Given the description of an element on the screen output the (x, y) to click on. 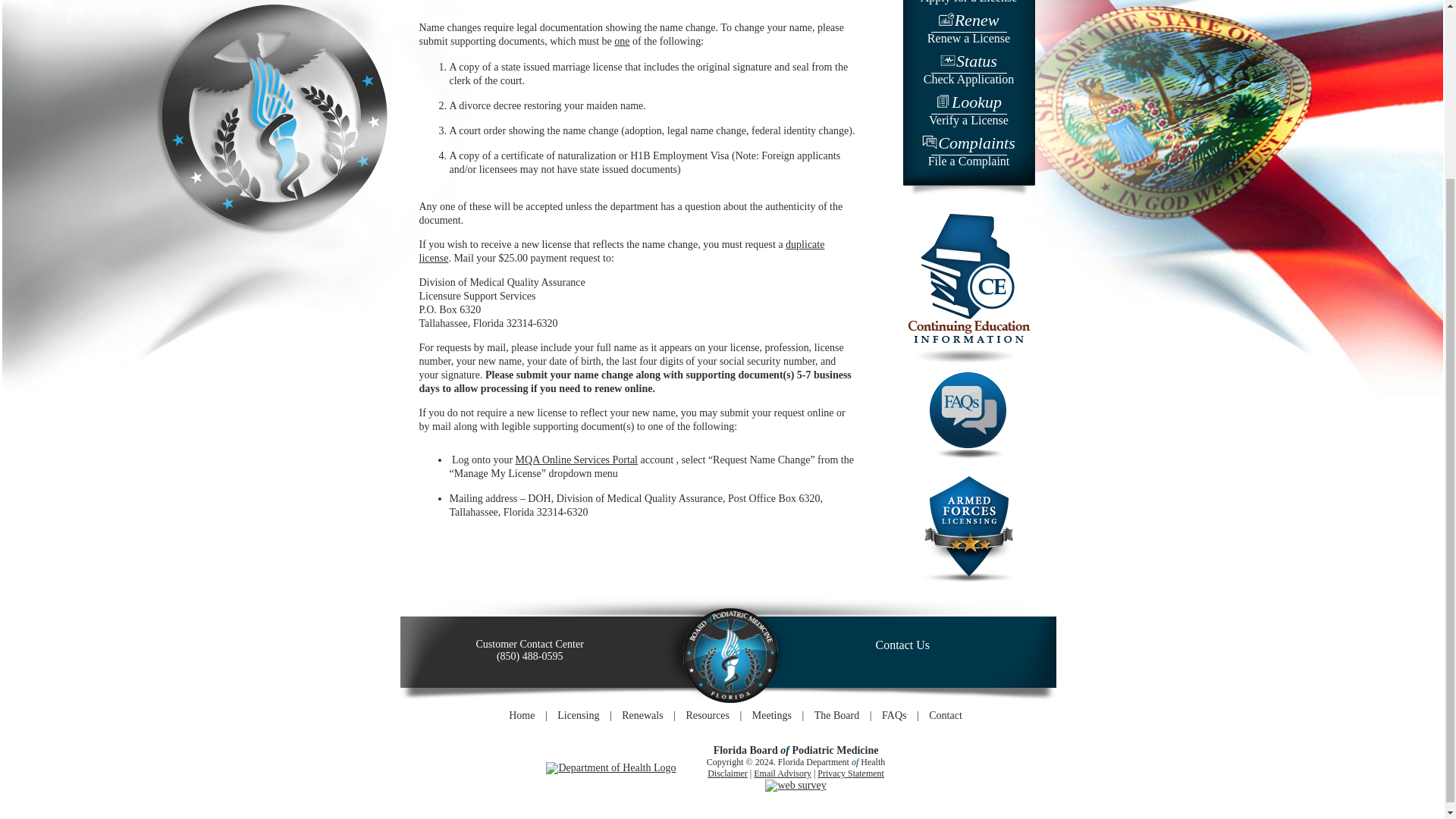
Email Advisory (782, 773)
Resources (967, 151)
Licensing (707, 715)
Contact (577, 715)
Check Application Status (945, 715)
MQA Online Services Portal (967, 69)
Apply for a License (967, 110)
